Given the description of an element on the screen output the (x, y) to click on. 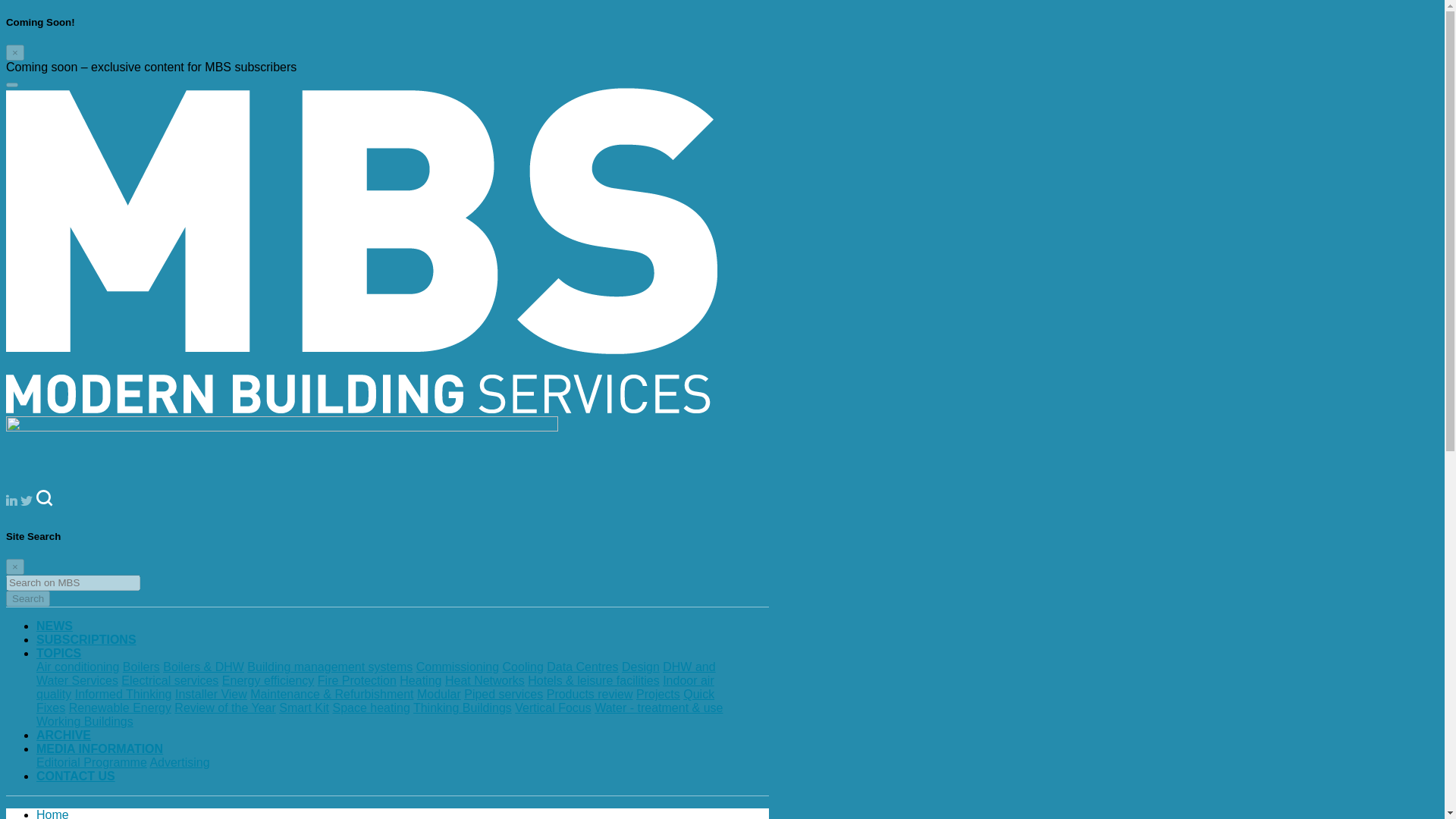
Electrical services (169, 680)
Fire Protection (356, 680)
Heat Networks (484, 680)
Air conditioning (77, 666)
Modular (438, 694)
TOPICS (58, 653)
Quick Fixes (375, 700)
Projects (657, 694)
Smart Kit (304, 707)
Building management systems (329, 666)
